Given the description of an element on the screen output the (x, y) to click on. 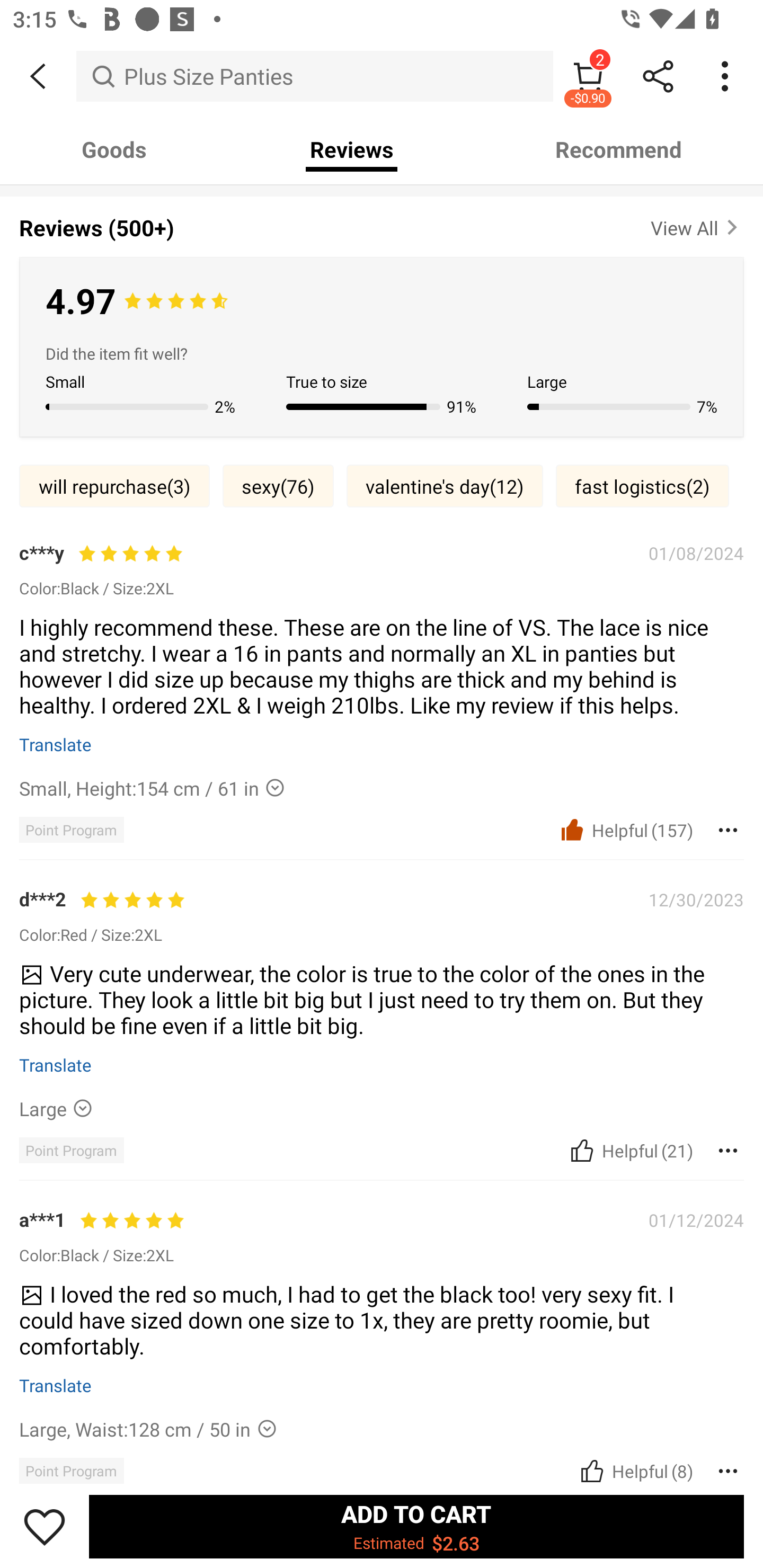
BACK (38, 75)
2 -$0.90 (588, 75)
Plus Size Panties (314, 75)
Goods (114, 149)
Reviews (351, 149)
Recommend (618, 149)
will repurchase(3) (114, 486)
sexy(76) (278, 486)
valentine's day(12) (444, 486)
fast logistics(2) (642, 486)
c***y Rating5.0 01/08/2024 Color:Black / Size:2XL (381, 568)
Translate (55, 743)
Helpful Helpful Was this article helpful? (157) (624, 830)
Point Program (71, 829)
d***2 Rating5.0 12/30/2023 Color:Red / Size:2XL (381, 915)
Translate (55, 1064)
Cancel Helpful Was this article helpful? (21) (629, 1150)
Point Program (71, 1149)
a***1 Rating5.0 01/12/2024 Color:Black / Size:2XL (381, 1235)
Translate (55, 1385)
Cancel Helpful Was this article helpful? (8) (634, 1470)
Point Program (71, 1470)
ADD TO CART Estimated   $2.63 (416, 1526)
Save (44, 1526)
